Given the description of an element on the screen output the (x, y) to click on. 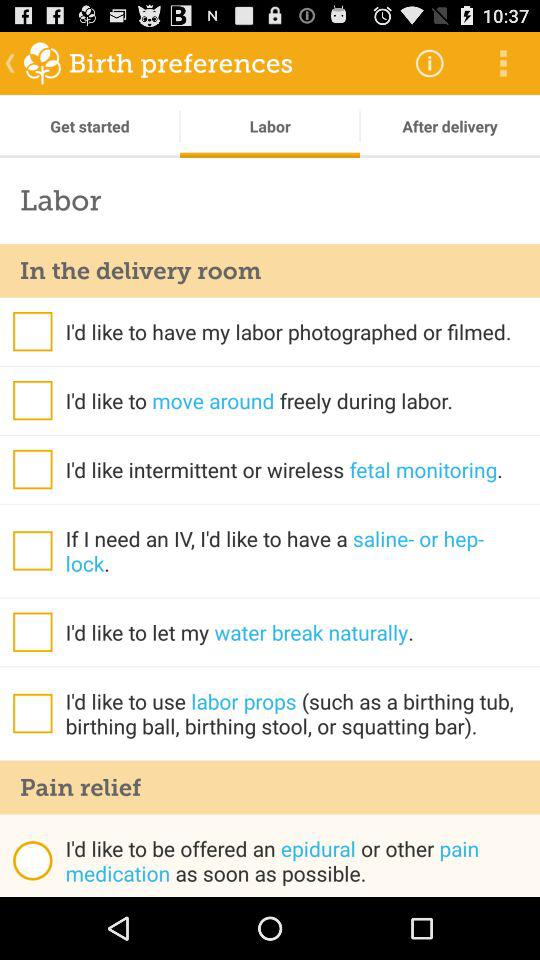
select option (32, 331)
